Given the description of an element on the screen output the (x, y) to click on. 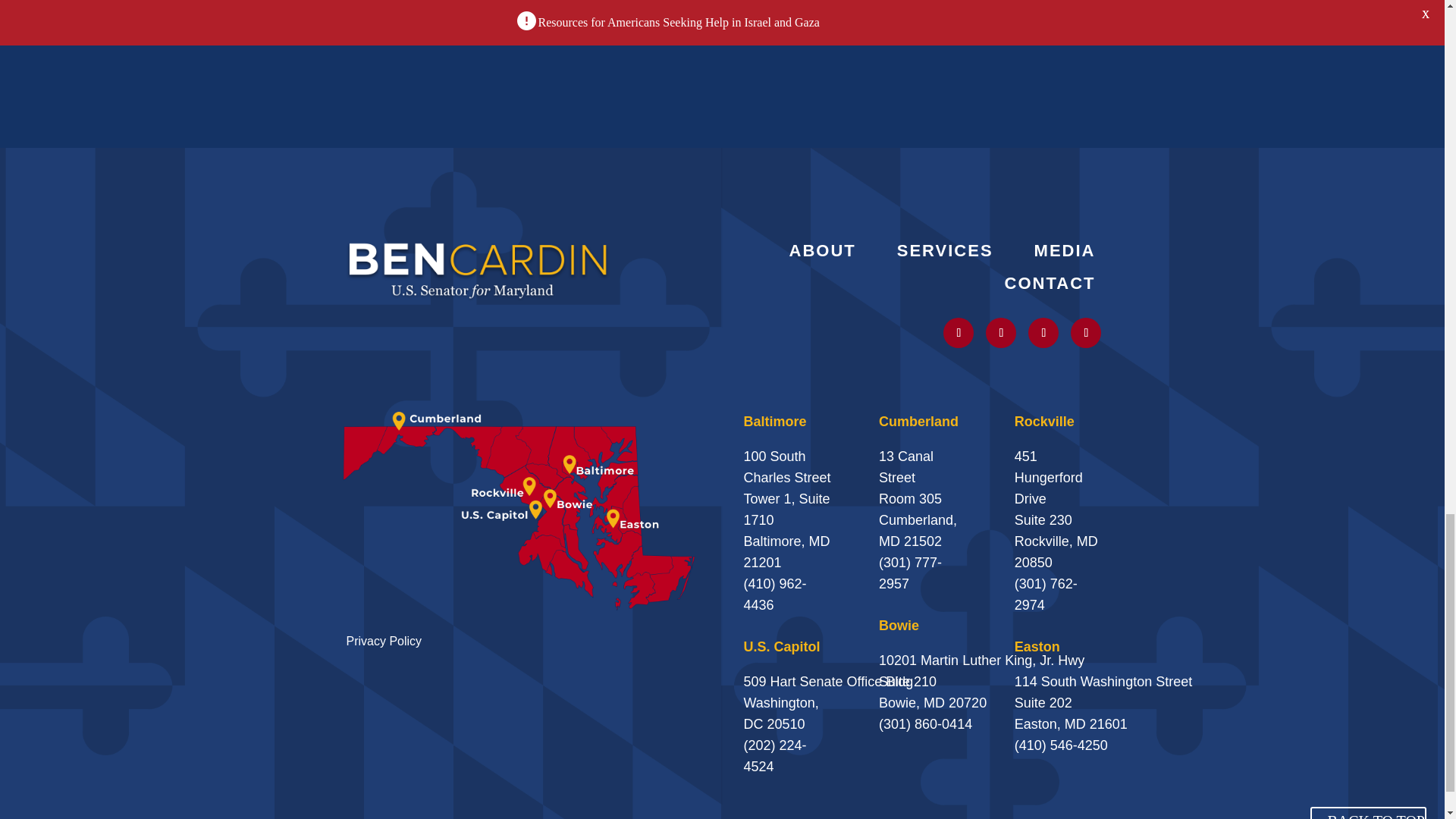
Follow on Instagram (1000, 332)
Follow on Youtube (1042, 332)
Privacy Policy (384, 640)
Footer (478, 268)
Follow on X (958, 332)
Follow on Facebook (1085, 332)
